Given the description of an element on the screen output the (x, y) to click on. 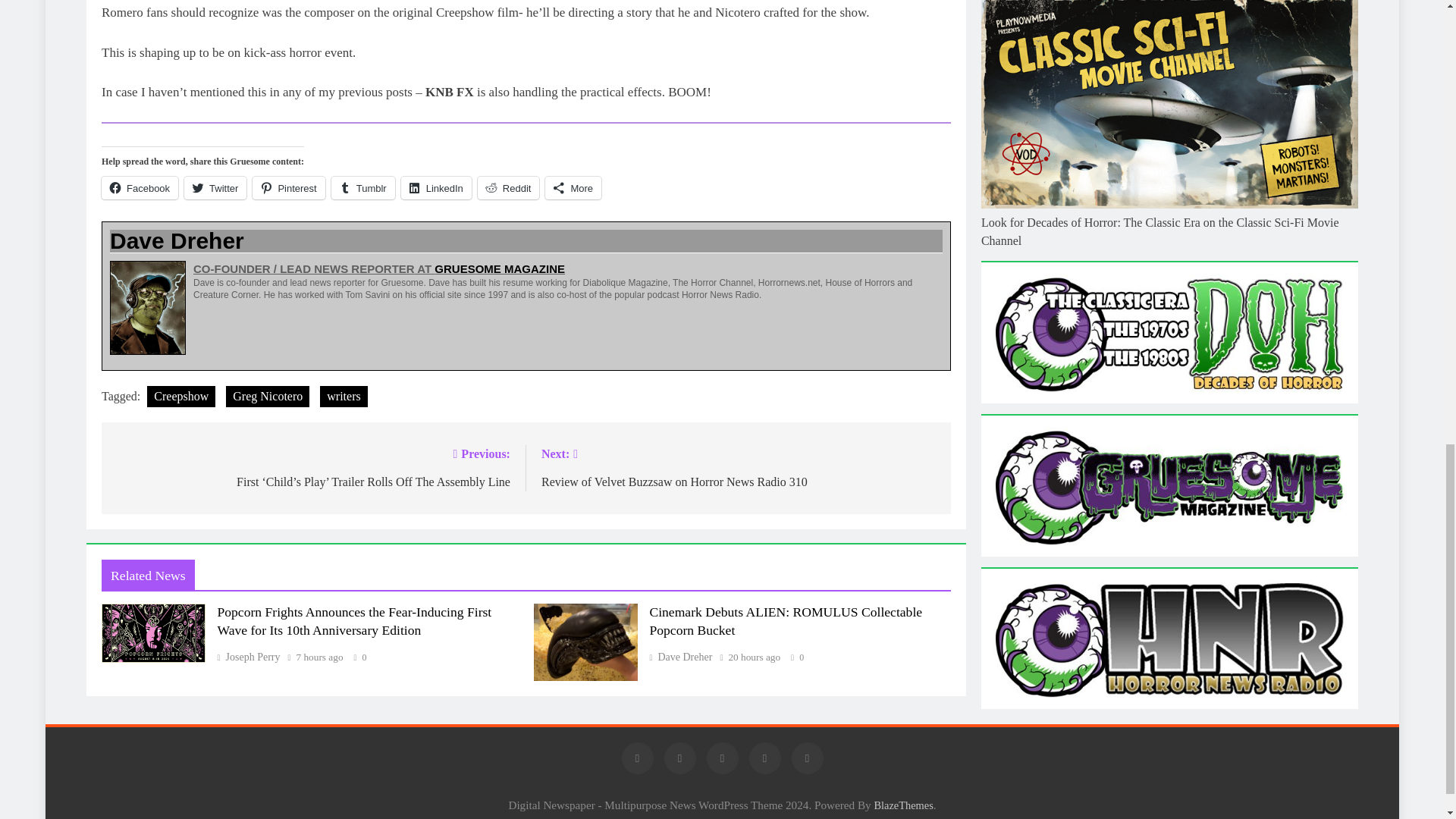
Click to share on Pinterest (287, 187)
Click to share on Reddit (508, 187)
Click to share on Tumblr (362, 187)
Click to share on LinkedIn (436, 187)
Click to share on Facebook (139, 187)
Click to share on Twitter (215, 187)
